Given the description of an element on the screen output the (x, y) to click on. 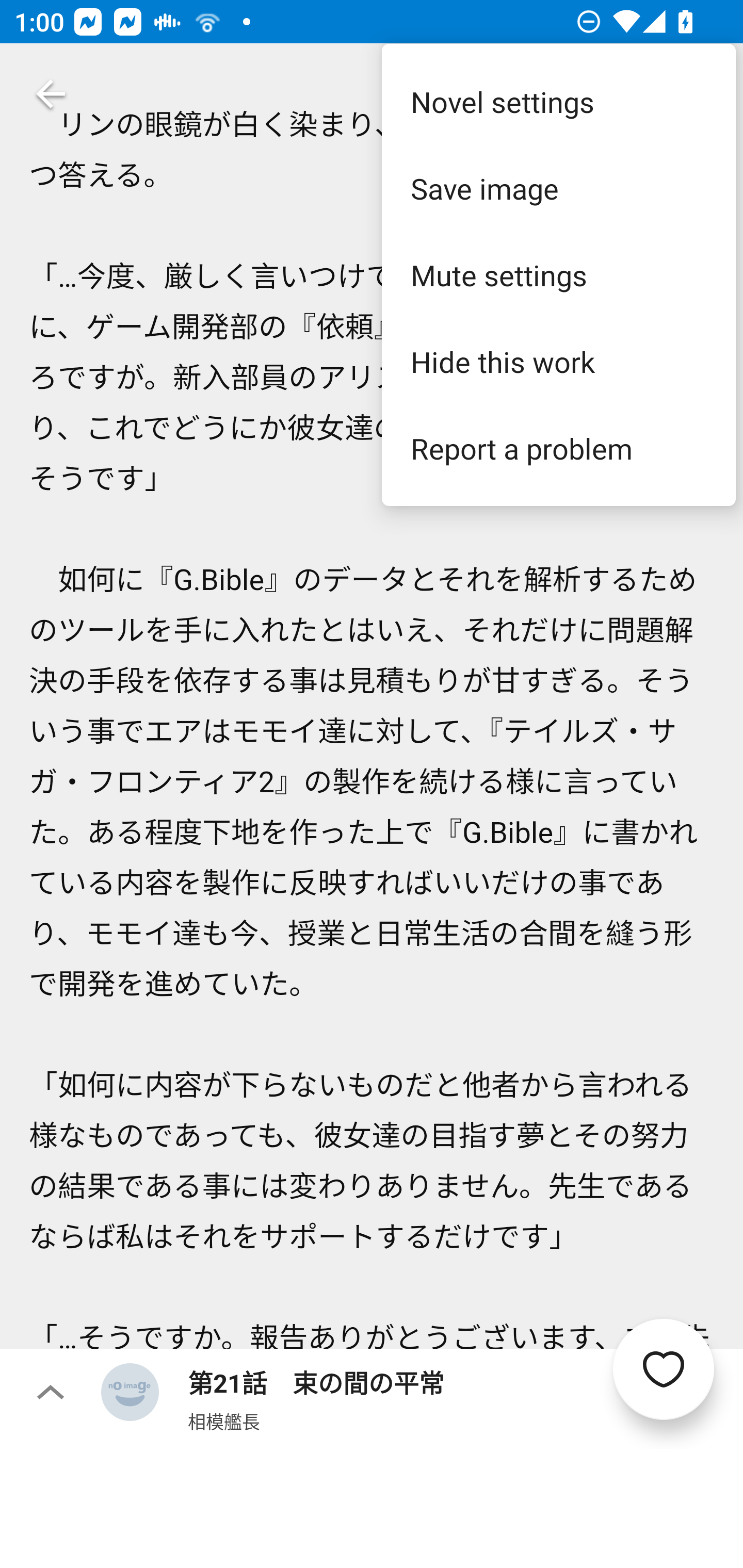
Novel settings (558, 101)
Save image (558, 188)
Mute settings (558, 275)
Hide this work (558, 361)
Report a problem (558, 447)
